Given the description of an element on the screen output the (x, y) to click on. 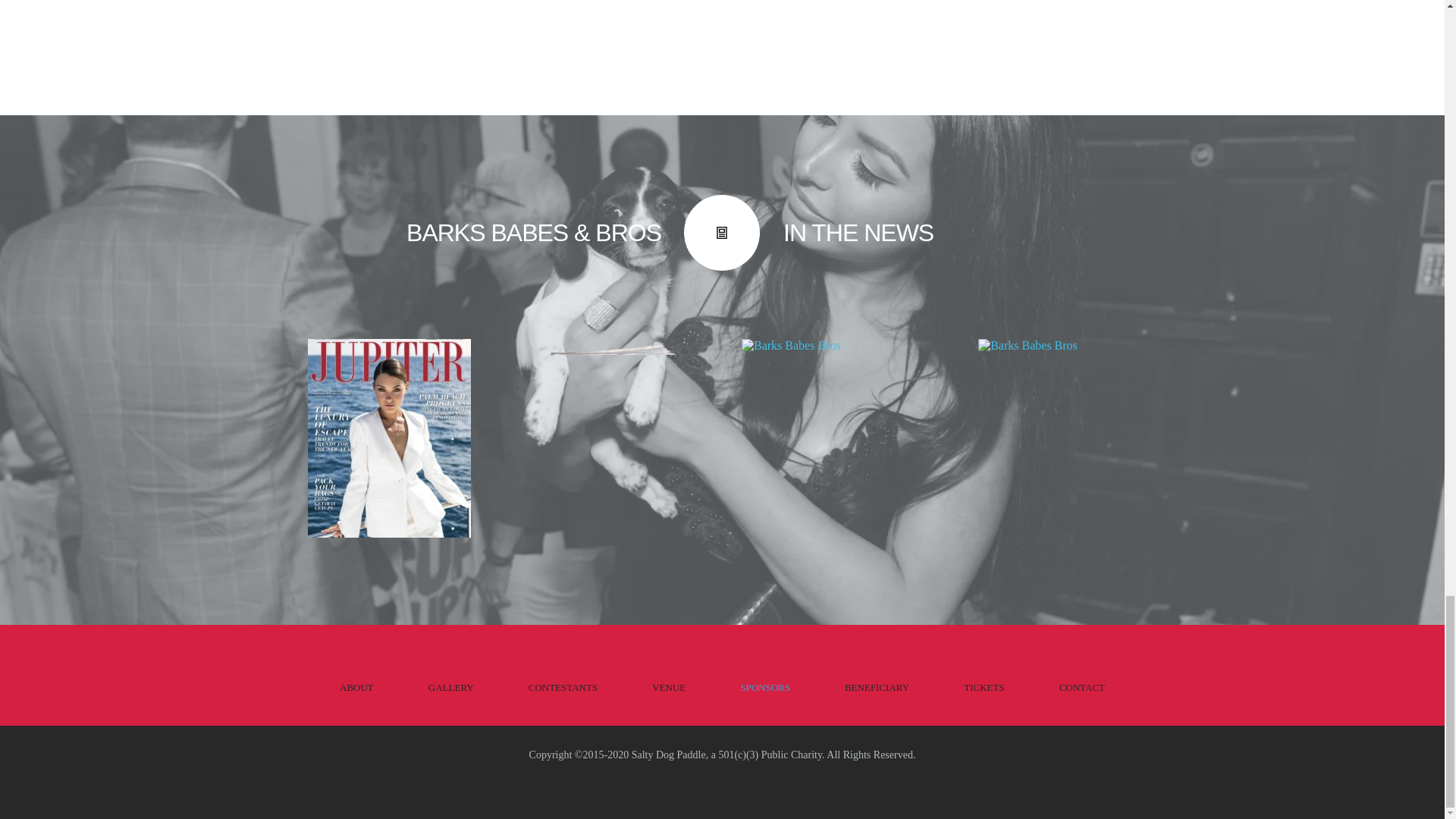
CONTESTANTS (562, 687)
